Given the description of an element on the screen output the (x, y) to click on. 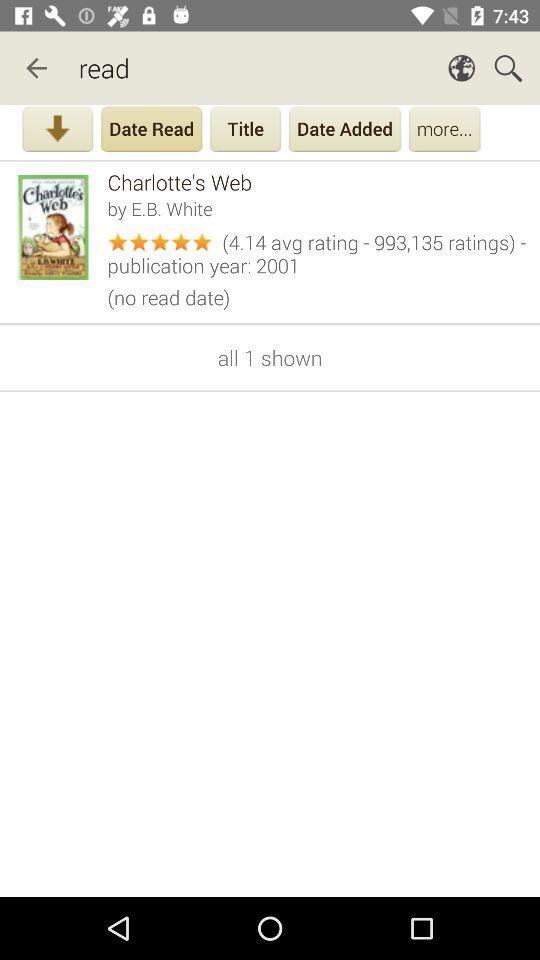
download the app (57, 131)
